Given the description of an element on the screen output the (x, y) to click on. 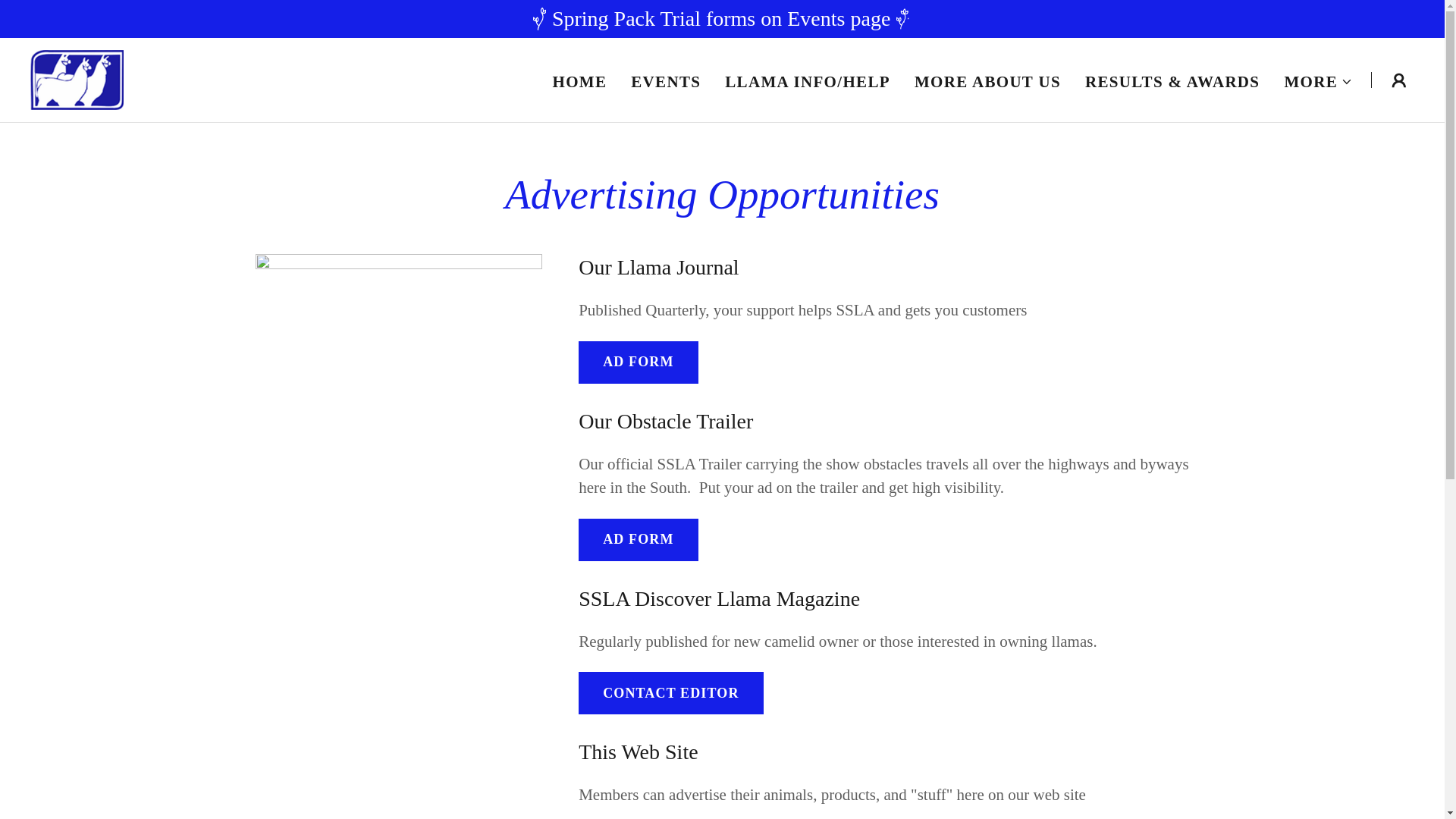
MORE (1318, 81)
EVENTS (665, 81)
Southern States Lama Association (76, 77)
MORE ABOUT US (987, 81)
AD FORM (637, 362)
AD FORM (637, 539)
HOME (579, 81)
CONTACT EDITOR (670, 692)
